Given the description of an element on the screen output the (x, y) to click on. 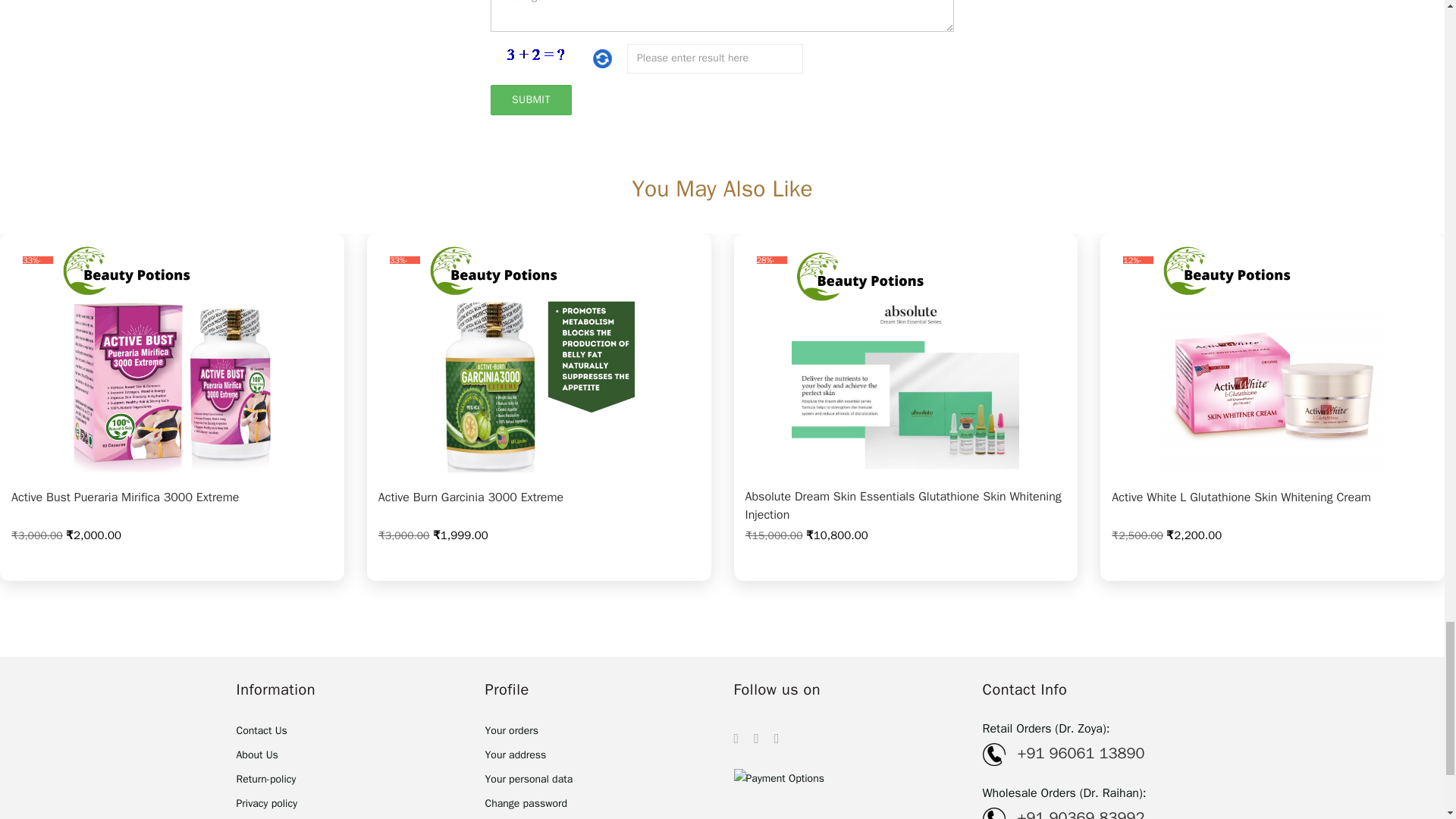
Submit (531, 100)
